Given the description of an element on the screen output the (x, y) to click on. 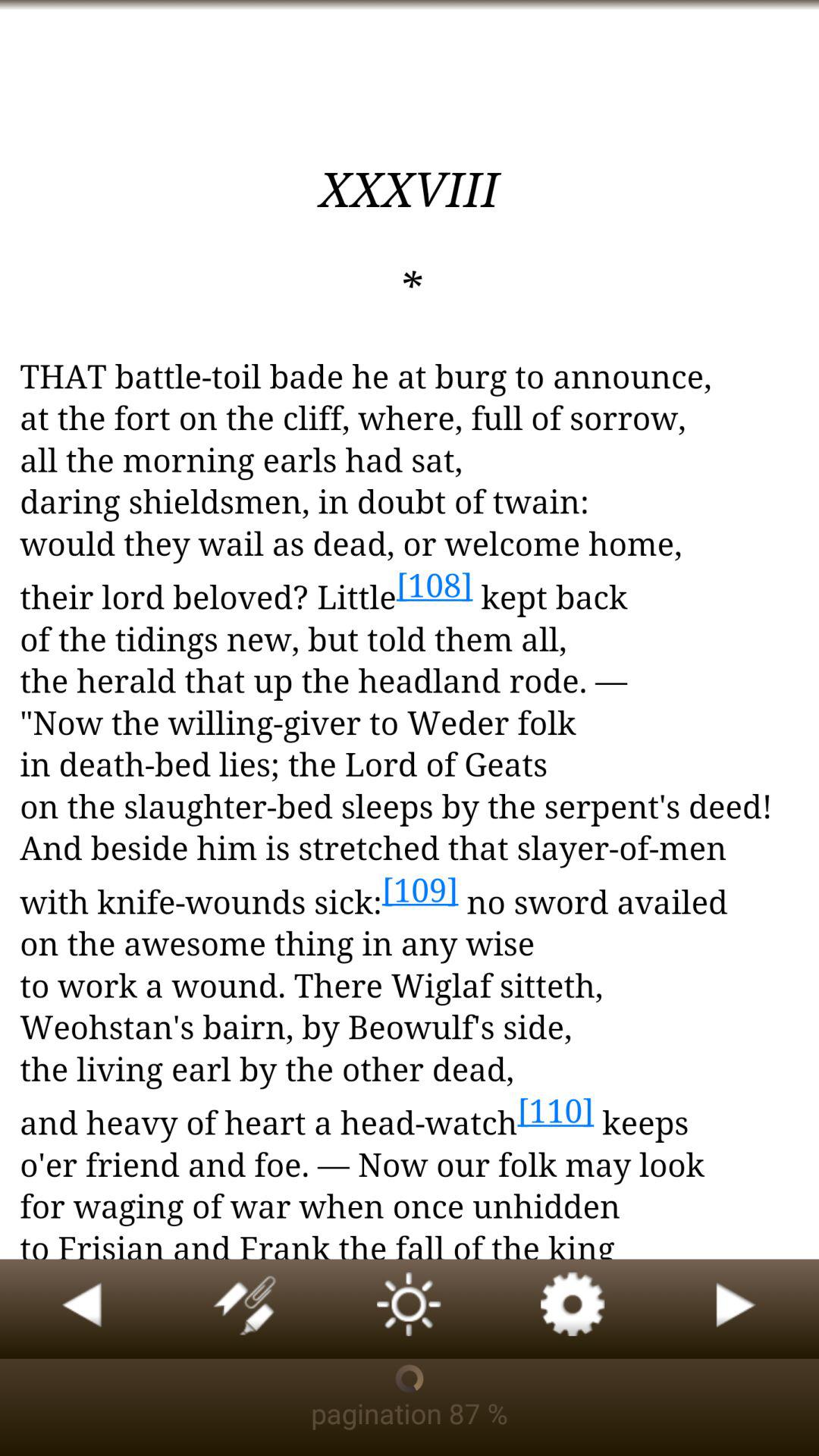
save place option (245, 1308)
